Given the description of an element on the screen output the (x, y) to click on. 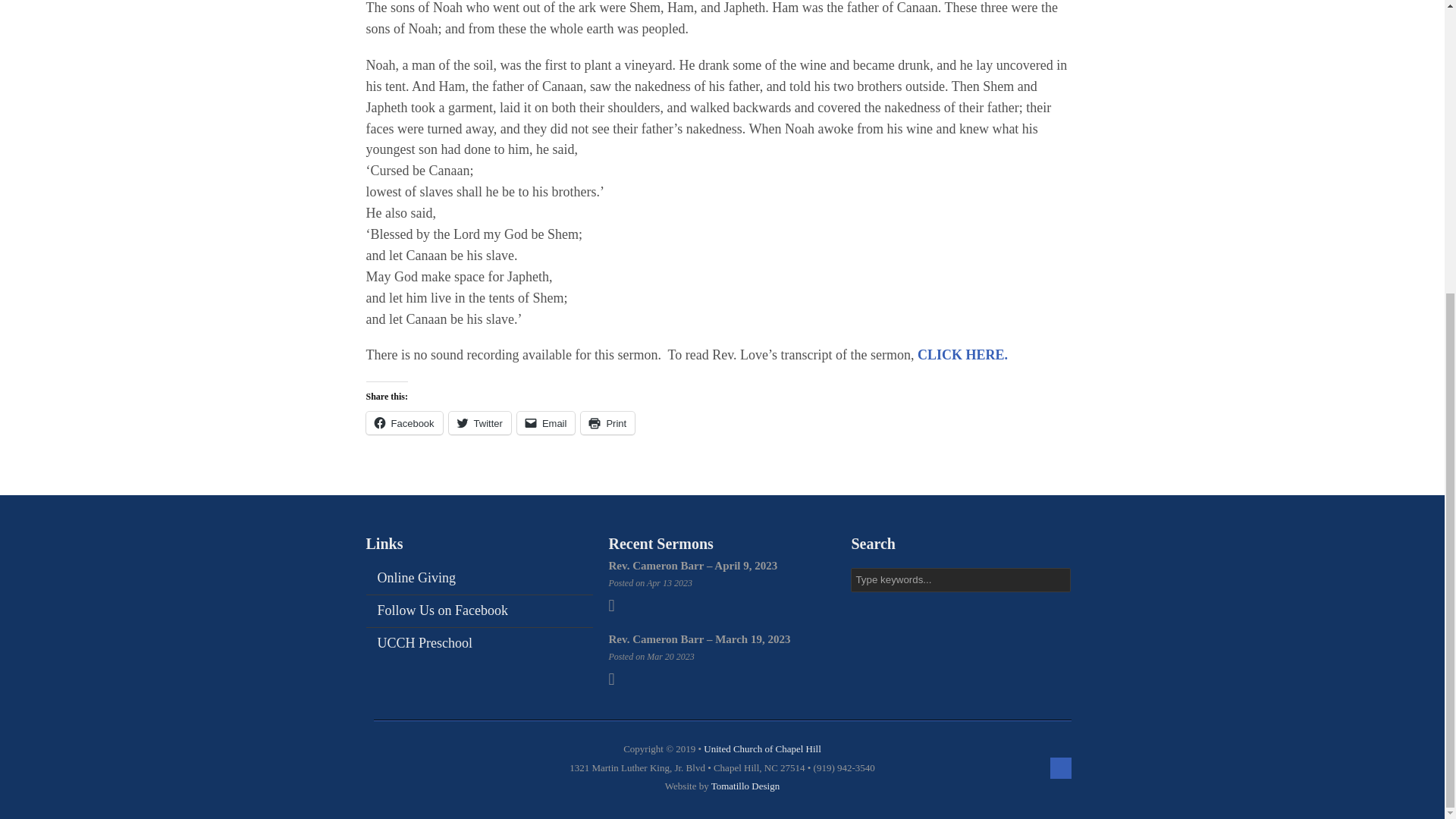
Click to print (607, 422)
Click to share on Twitter (479, 422)
Amazing, affordable websites for churches and nonprofits (744, 785)
Click to email a link to a friend (545, 422)
Type keywords... (960, 580)
Click to share on Facebook (403, 422)
